Given the description of an element on the screen output the (x, y) to click on. 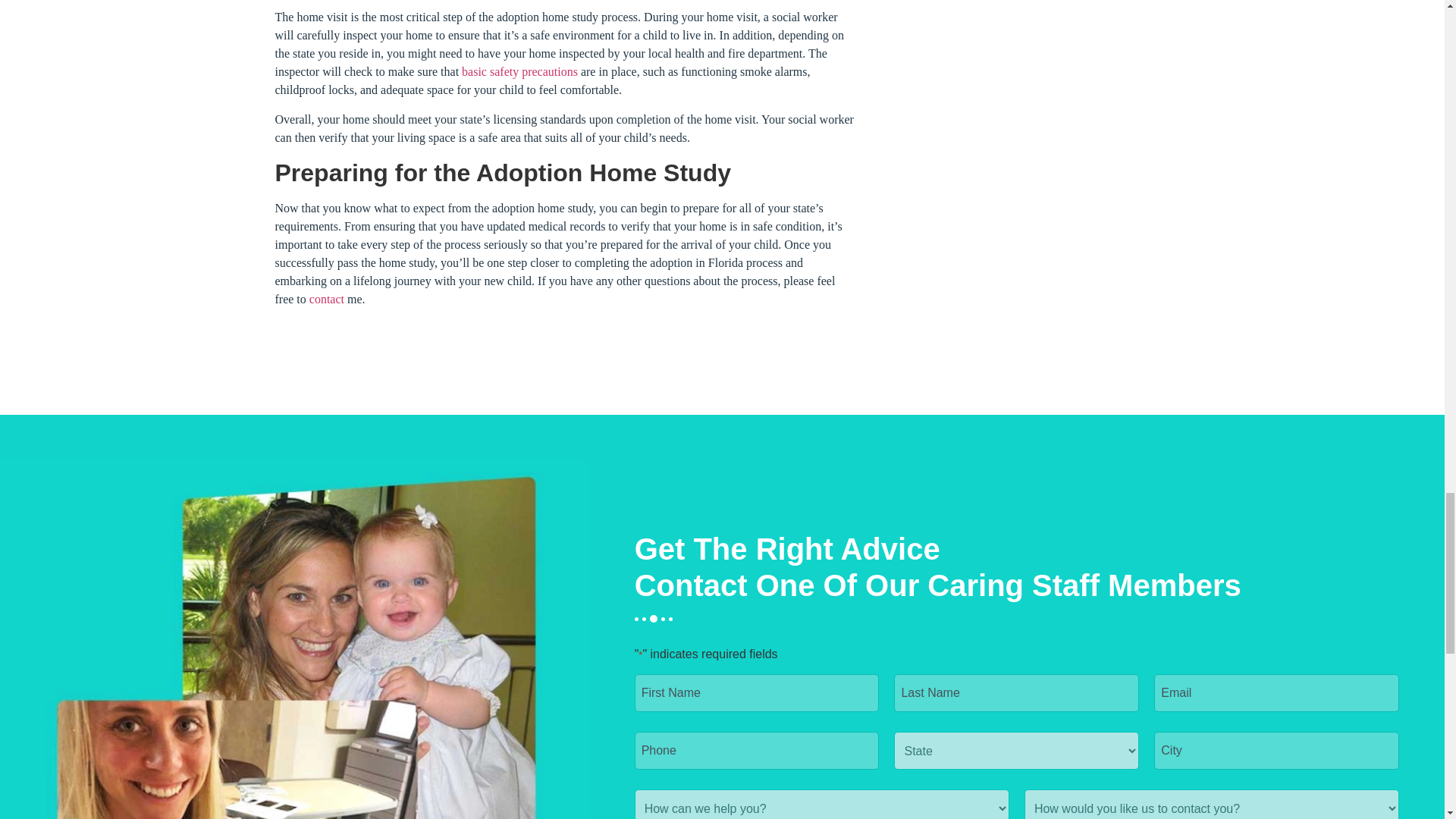
contact (327, 298)
basic safety precautions (519, 71)
